Given the description of an element on the screen output the (x, y) to click on. 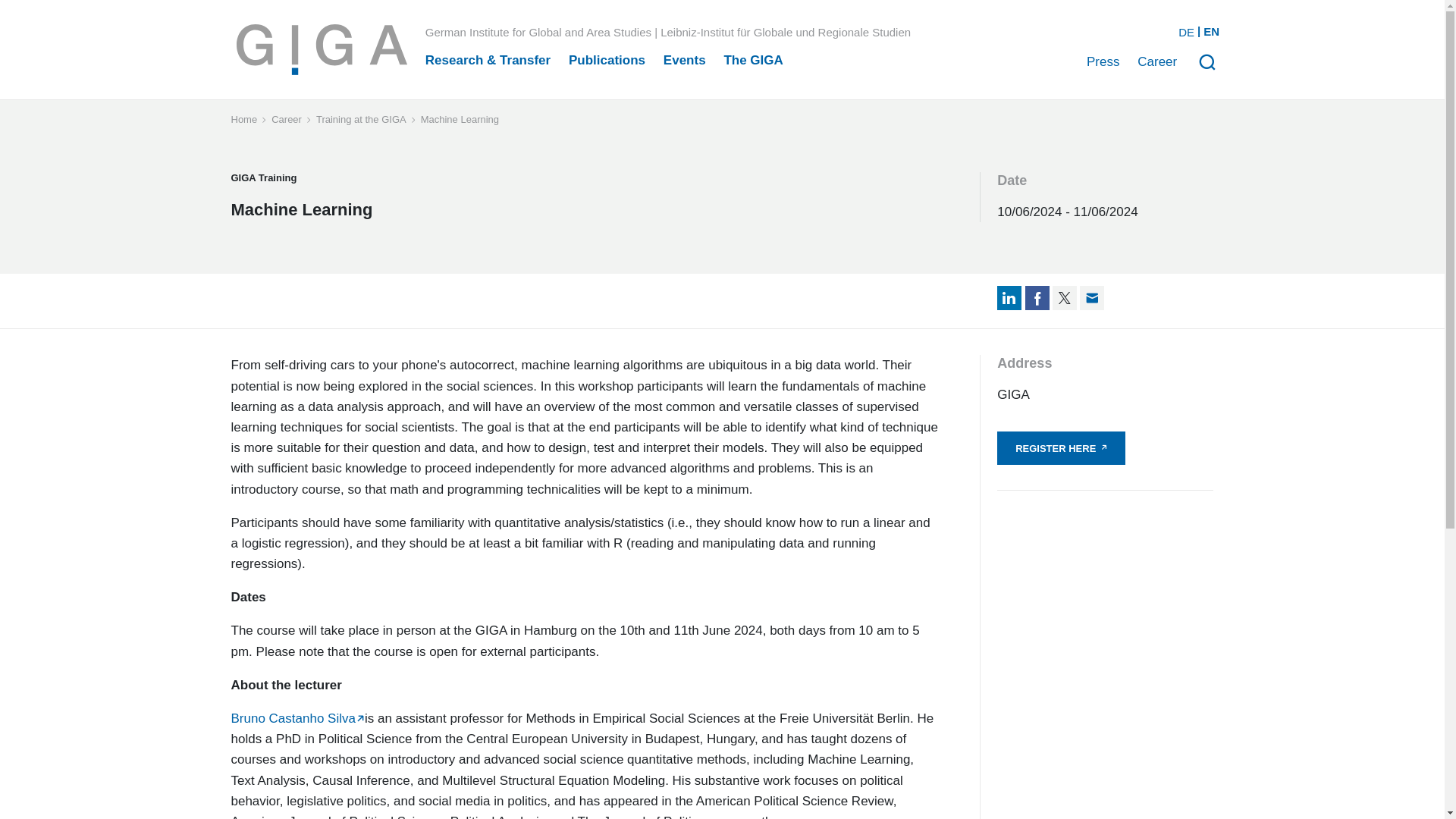
The GIGA (753, 60)
Events (684, 60)
Publications (607, 60)
